Given the description of an element on the screen output the (x, y) to click on. 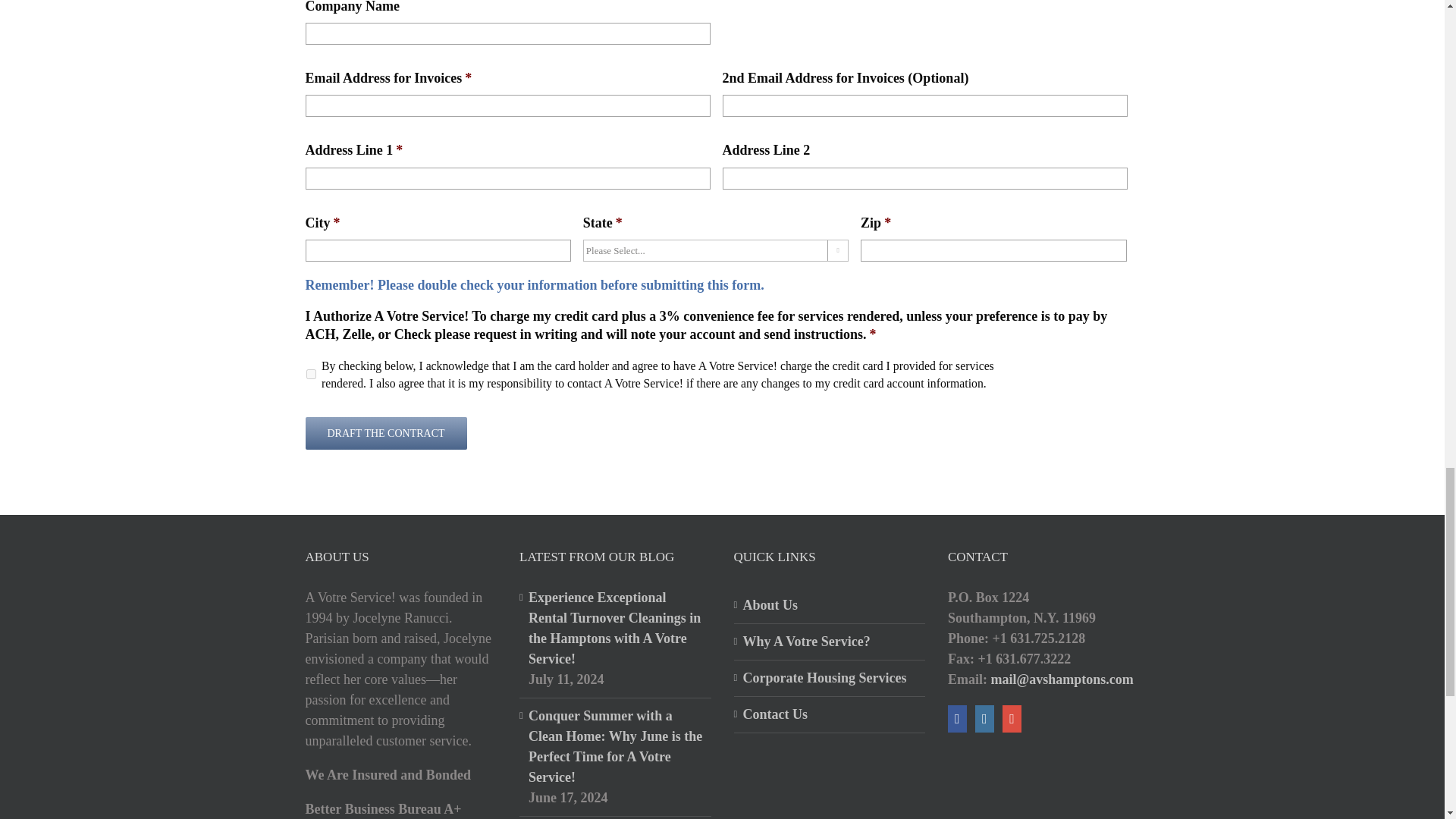
Draft The Contract (384, 432)
